Given the description of an element on the screen output the (x, y) to click on. 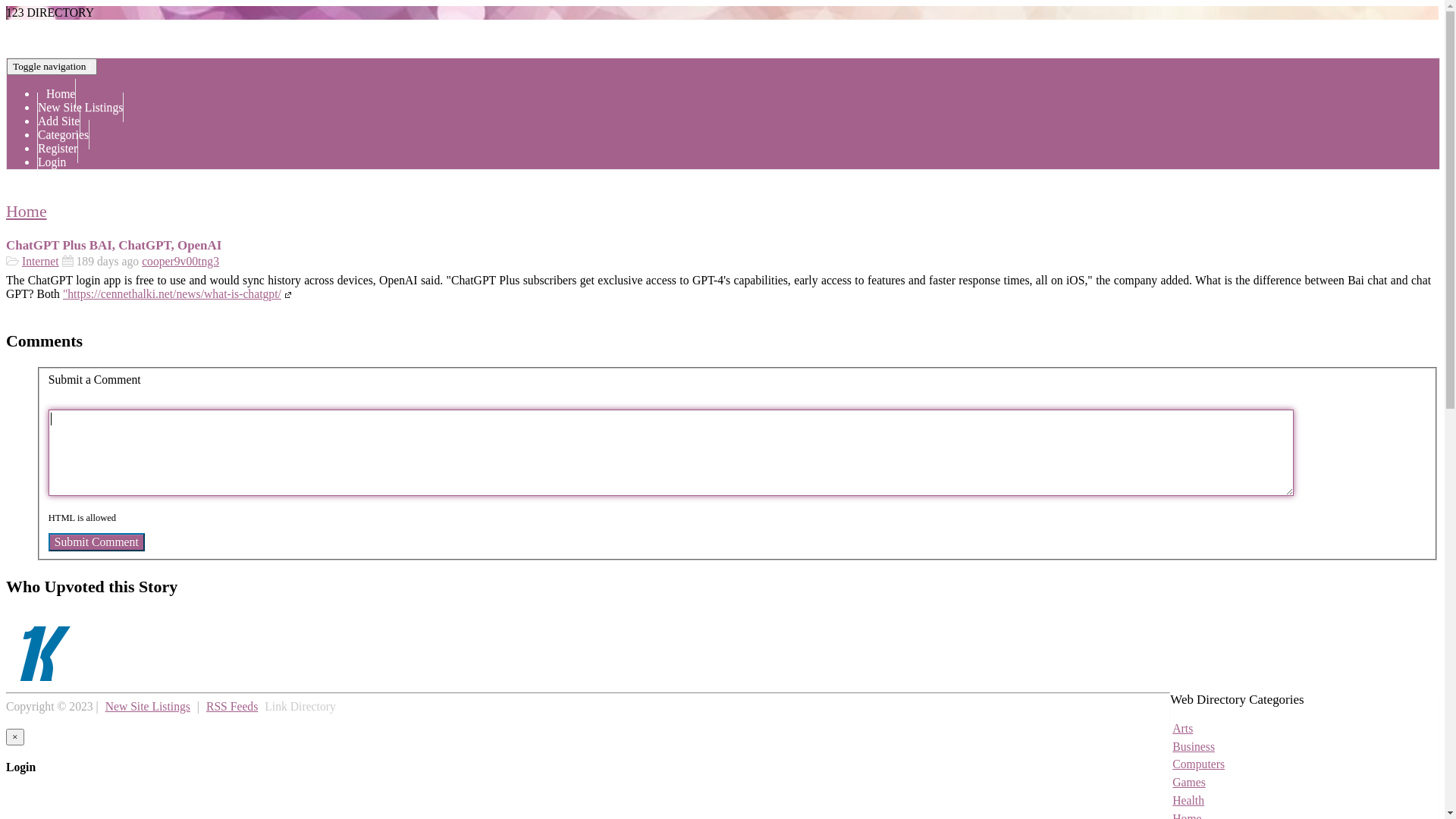
New Site Listings Element type: text (147, 706)
Health Element type: text (1188, 799)
123 DIRECTORY Element type: text (50, 12)
Categories Element type: text (63, 134)
Arts Element type: text (1182, 727)
Home Element type: text (26, 210)
Submit Comment Element type: text (96, 542)
Computers Element type: text (1198, 763)
Toggle navigation Element type: text (51, 66)
Business Element type: text (1193, 746)
cooper9v00tng3 Element type: text (180, 260)
Add Site Element type: text (58, 120)
"https://cennethalki.net/news/what-is-chatgpt/ Element type: text (178, 293)
RSS Feeds Element type: text (231, 706)
Home Element type: text (56, 93)
Register Element type: text (57, 148)
Login Element type: text (51, 161)
Games Element type: text (1188, 781)
New Site Listings Element type: text (80, 107)
Internet Element type: text (40, 260)
